Given the description of an element on the screen output the (x, y) to click on. 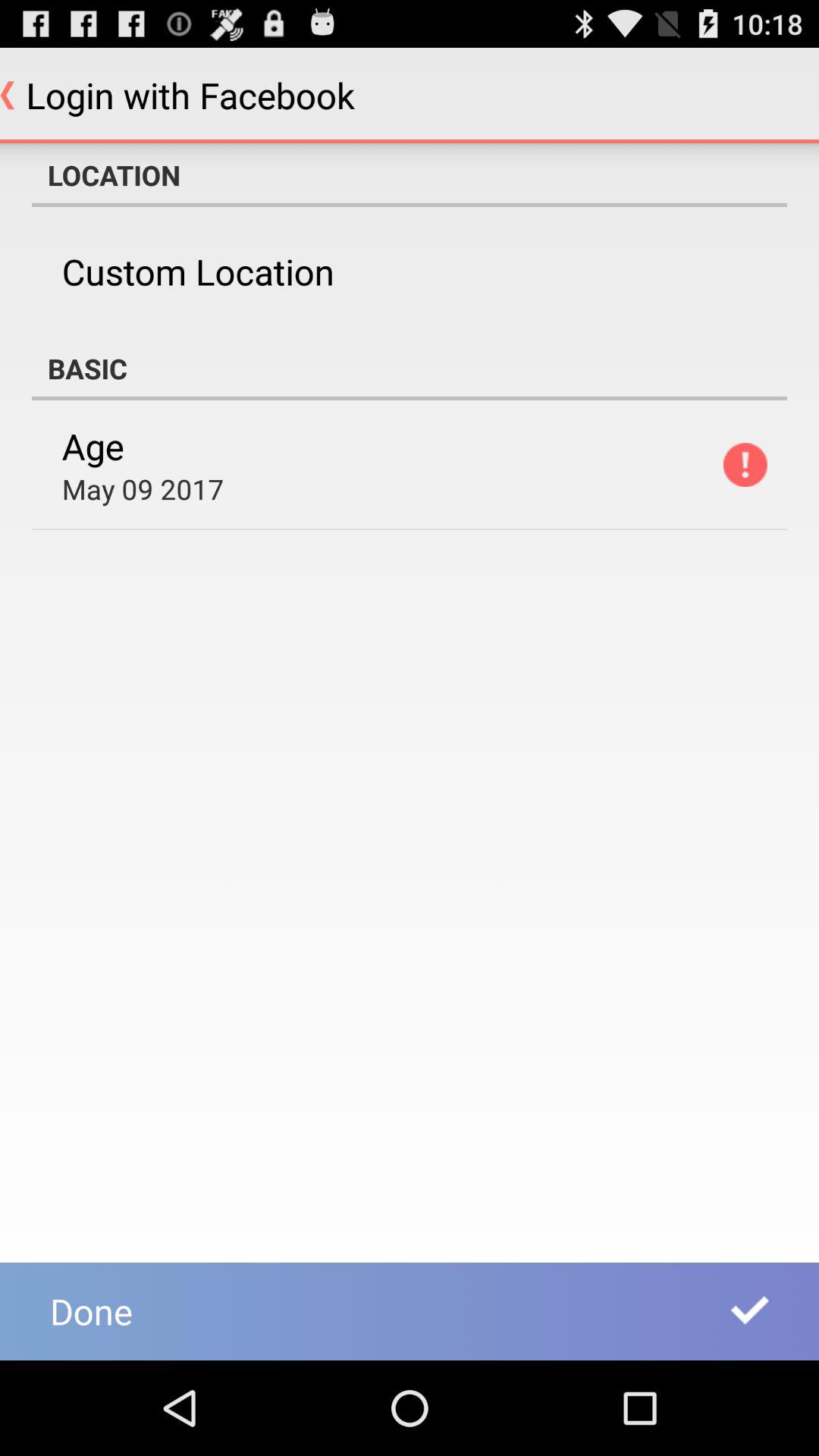
press custom location icon (197, 271)
